Given the description of an element on the screen output the (x, y) to click on. 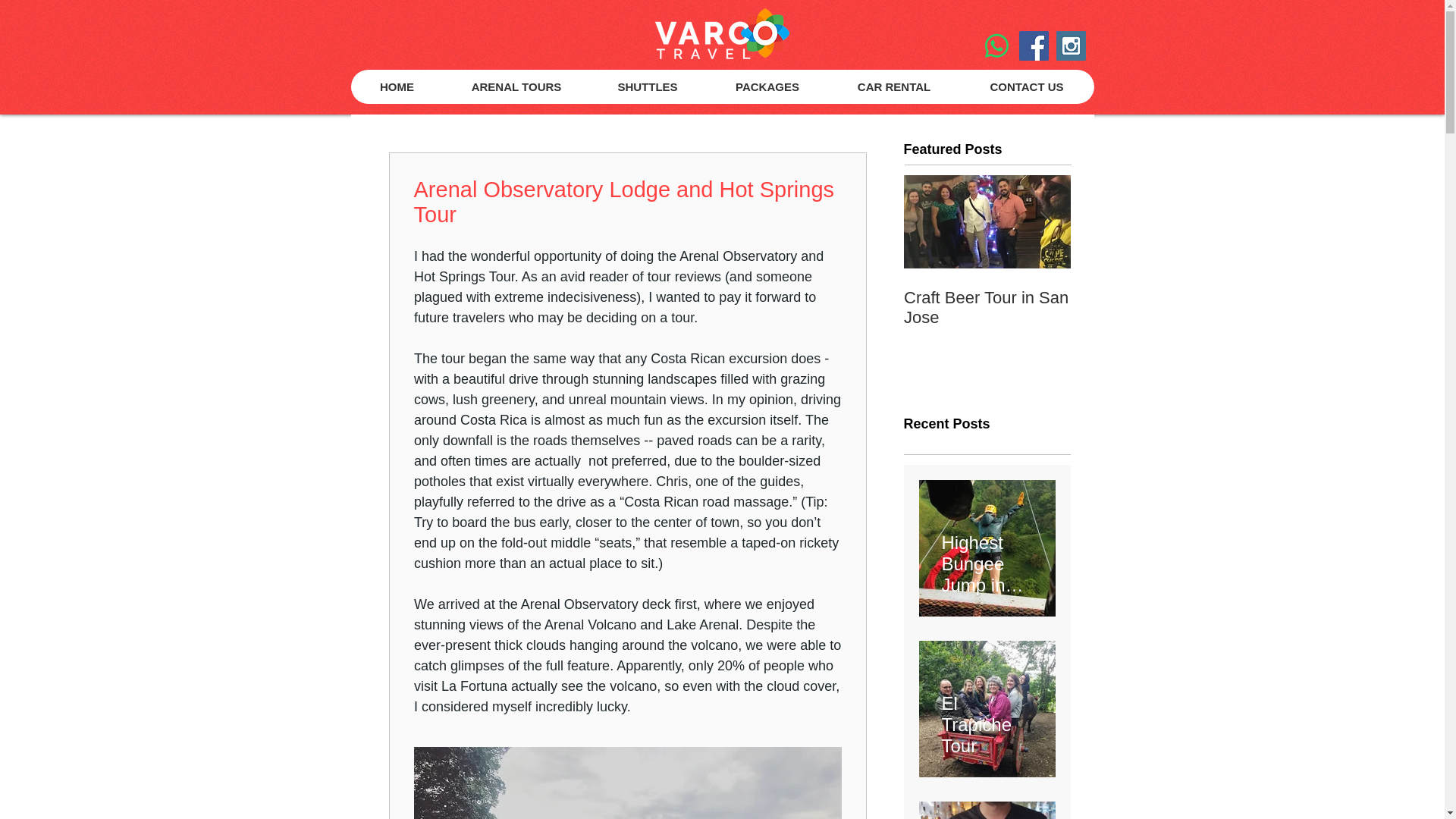
Highest Bungee Jump in Central America (987, 557)
El Trapiche Tour (987, 717)
CONTACT US (1025, 86)
PACKAGES (766, 86)
Craft Beer Tour in San Jose (987, 307)
ARENAL TOURS (515, 86)
Olivia's Tour Guide to Costa Rica (1153, 307)
CAR RENTAL (893, 86)
SHUTTLES (646, 86)
HOME (396, 86)
